Given the description of an element on the screen output the (x, y) to click on. 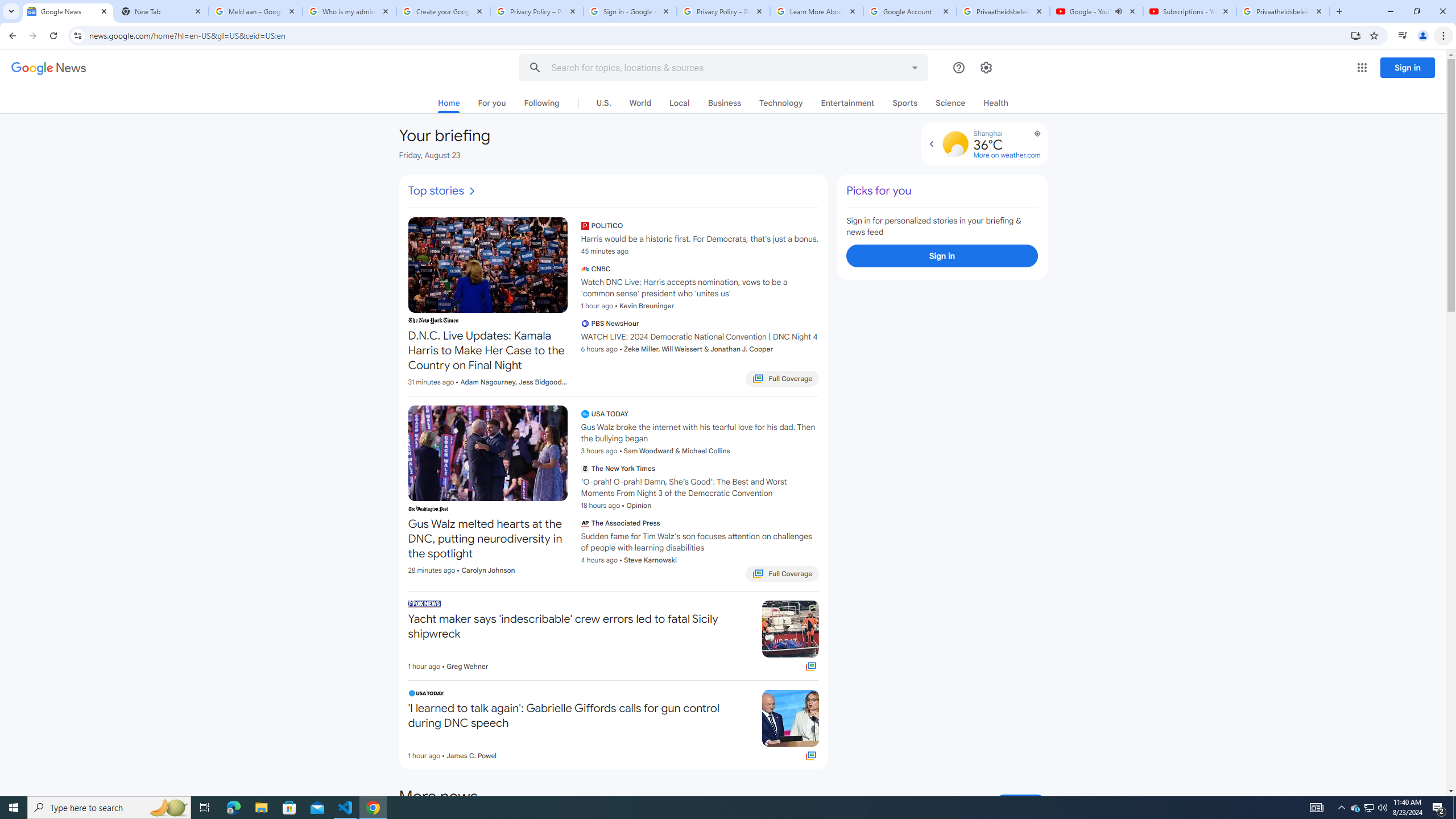
New Tab (161, 11)
Google News (48, 68)
Full Coverage (811, 755)
Use precise location (1031, 138)
Following (541, 102)
Business (724, 102)
Create your Google Account (443, 11)
Subscriptions - YouTube (1189, 11)
Science (950, 102)
